Given the description of an element on the screen output the (x, y) to click on. 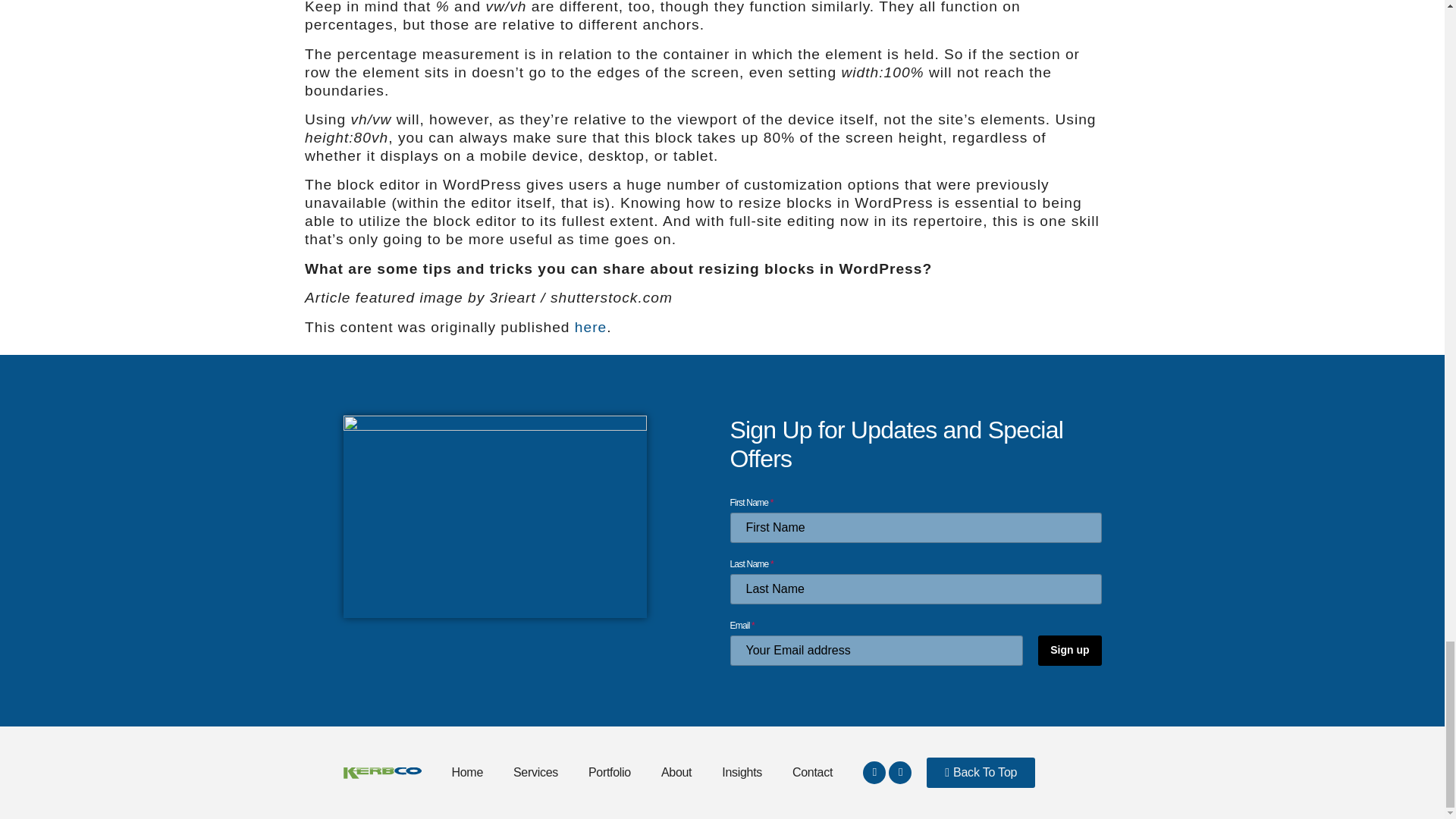
Back To Top (980, 772)
Contact (812, 772)
here (591, 326)
Insights (741, 772)
Services (535, 772)
Sign up (1069, 650)
About (676, 772)
Home (466, 772)
Portfolio (609, 772)
